Given the description of an element on the screen output the (x, y) to click on. 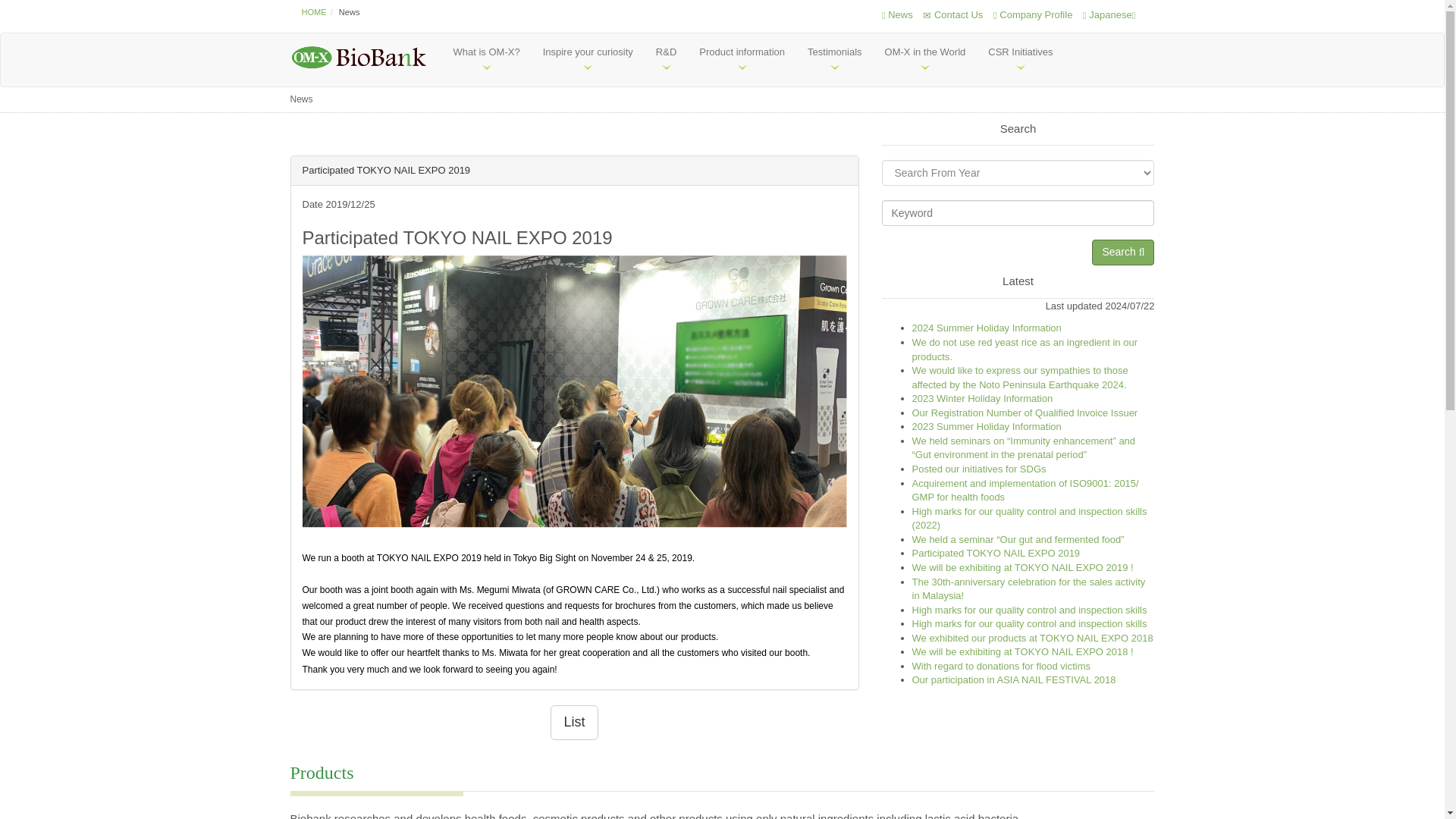
Product information (741, 59)
HOME (313, 11)
Testimonials (834, 59)
Contact Us (952, 14)
News (897, 14)
Japanese (1109, 14)
OM-X in the World (924, 59)
Inspire your curiosity (588, 59)
Company Profile (1031, 14)
